Given the description of an element on the screen output the (x, y) to click on. 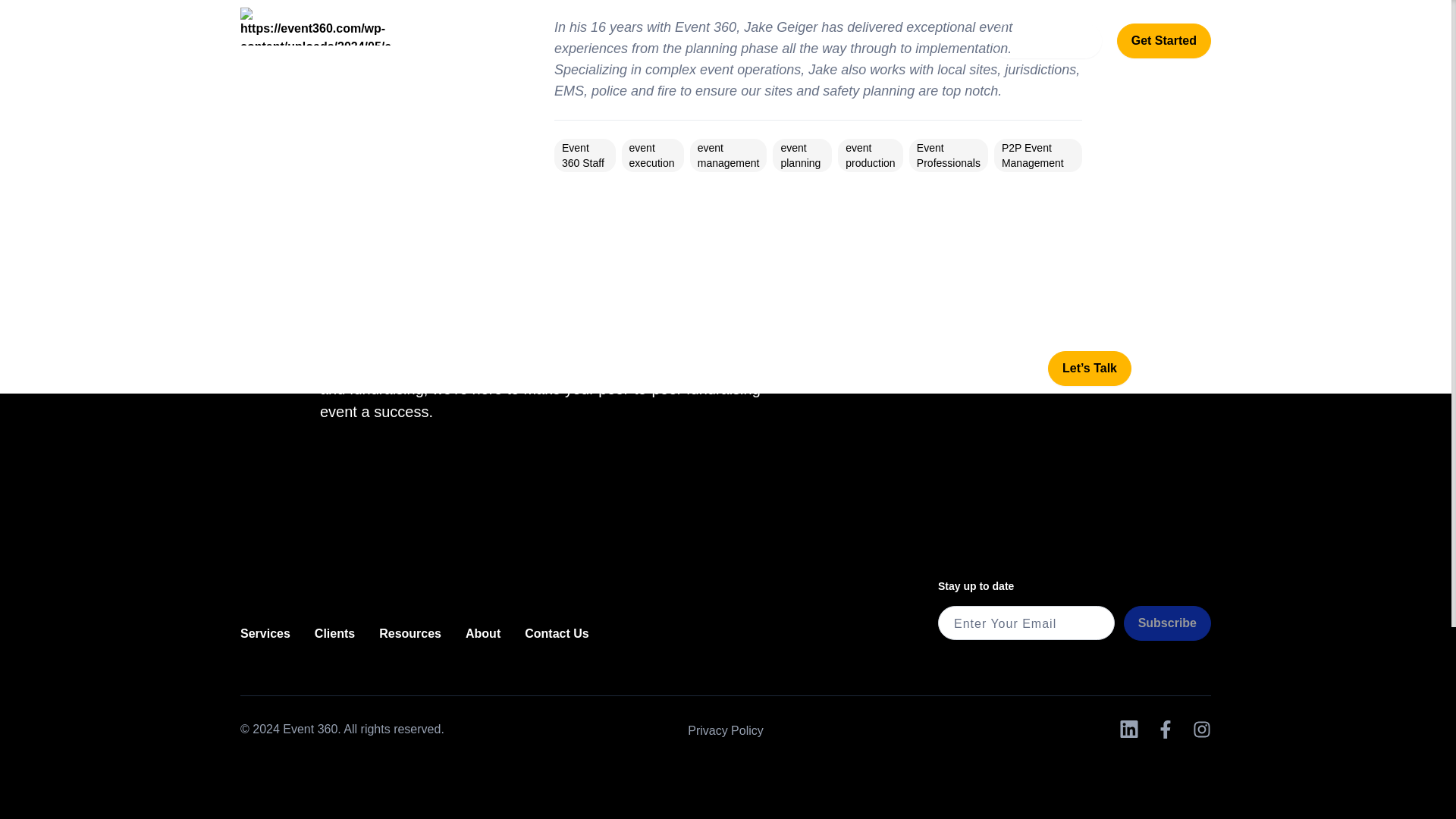
event management (728, 154)
event production (870, 154)
event planning (800, 154)
event execution (651, 154)
Event Professionals (948, 154)
Clients (334, 633)
About (482, 633)
Event 360 Staff (583, 154)
Services (264, 633)
Resources (409, 633)
P2P Event Management (1032, 154)
Contact Us (556, 633)
